Given the description of an element on the screen output the (x, y) to click on. 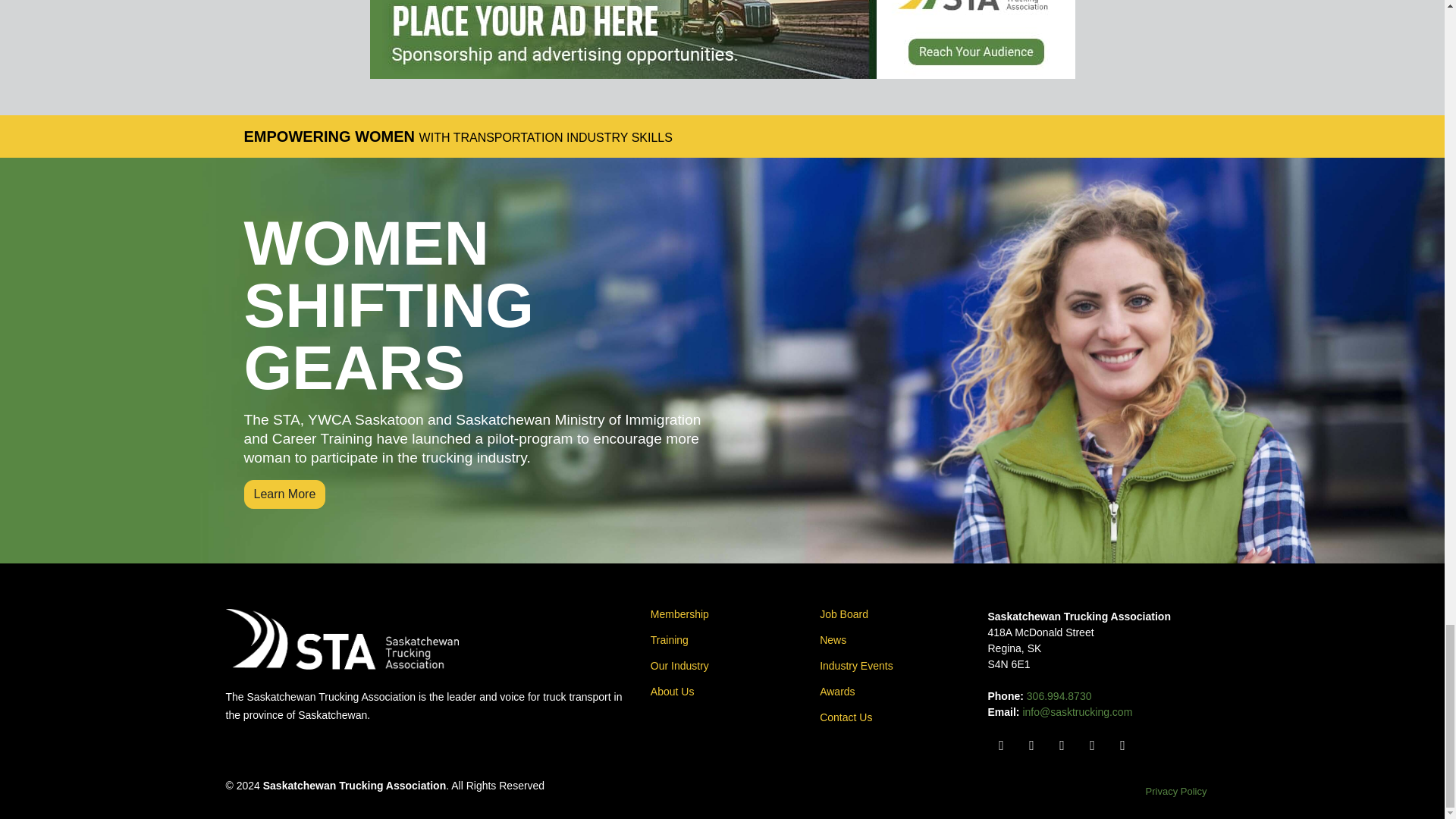
Saskatchewan Trucking Association (341, 639)
